Given the description of an element on the screen output the (x, y) to click on. 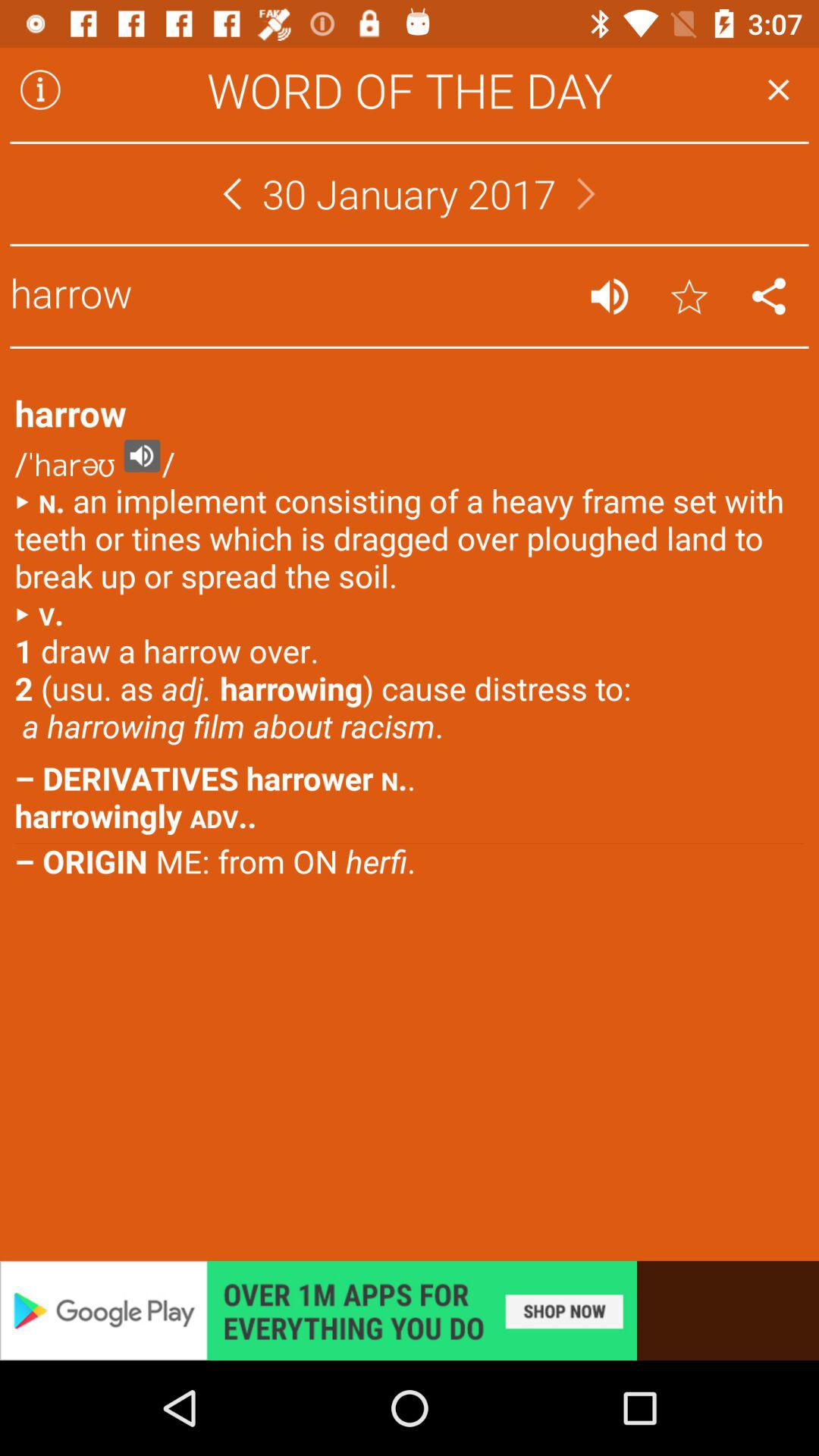
back option (231, 193)
